Given the description of an element on the screen output the (x, y) to click on. 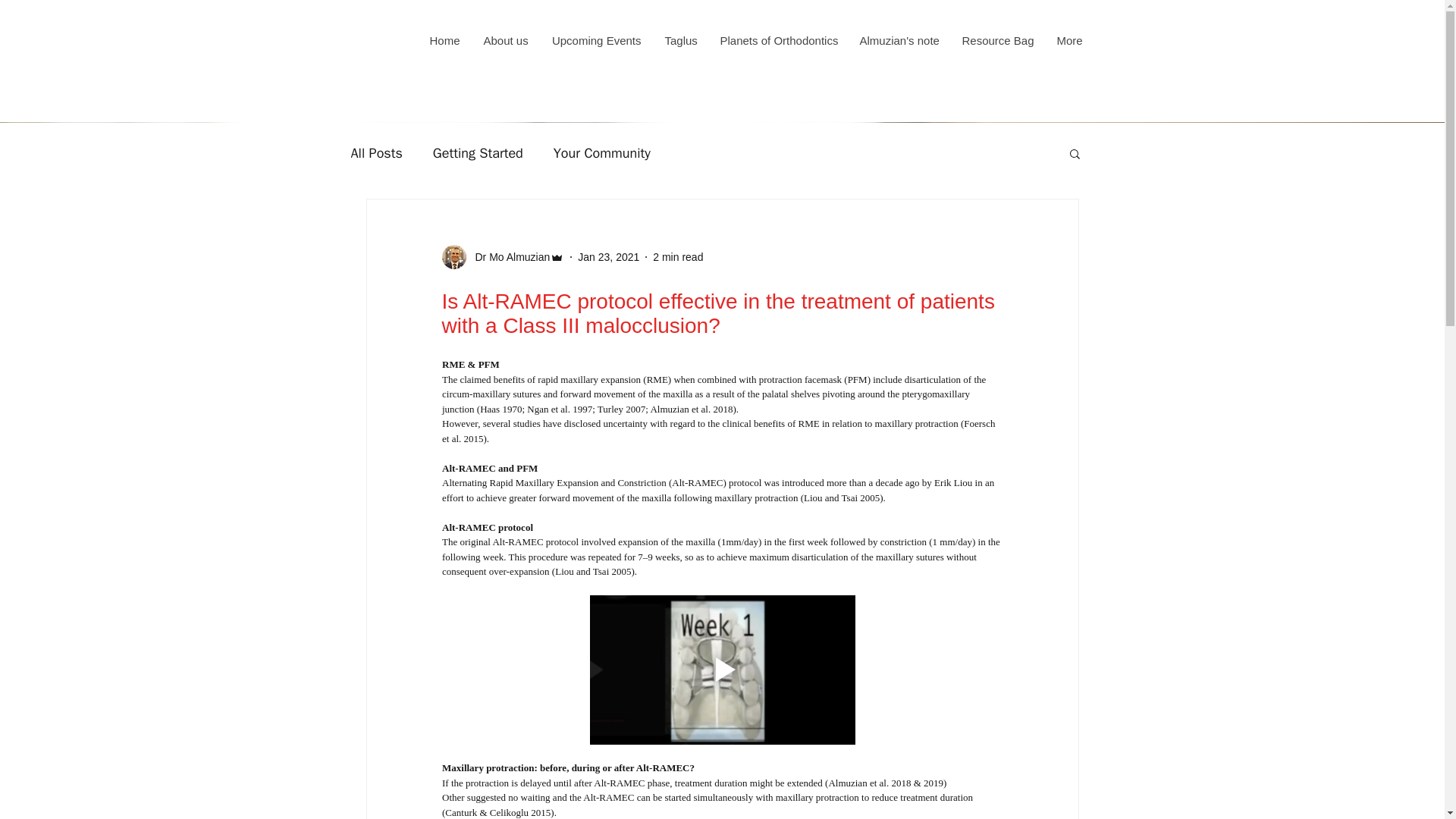
Resource Bag (996, 40)
All Posts (375, 153)
Jan 23, 2021 (608, 256)
Planets of Orthodontics (777, 40)
About us (505, 40)
Getting Started (477, 153)
Dr Mo Almuzian (507, 256)
Taglus (679, 40)
2 min read (677, 256)
Your Community (601, 153)
